Given the description of an element on the screen output the (x, y) to click on. 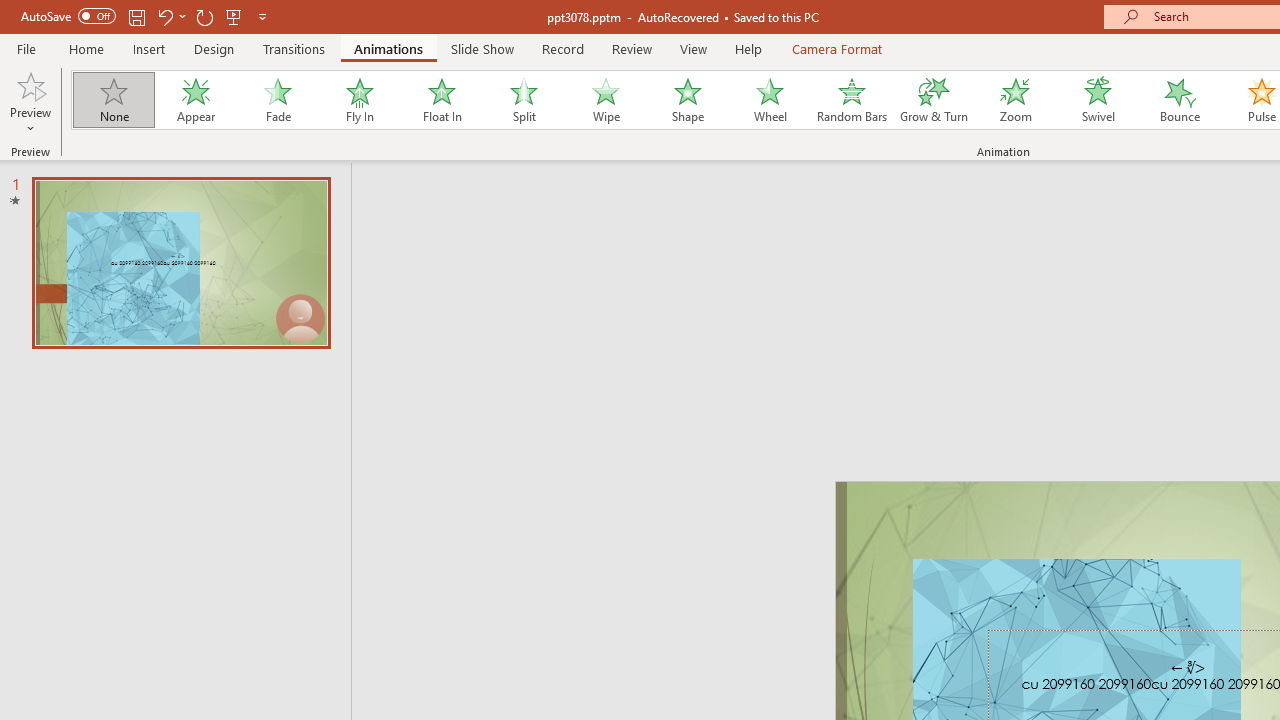
Wheel (770, 100)
Shape (687, 100)
Grow & Turn (934, 100)
None (113, 100)
Float In (441, 100)
Random Bars (852, 100)
